Given the description of an element on the screen output the (x, y) to click on. 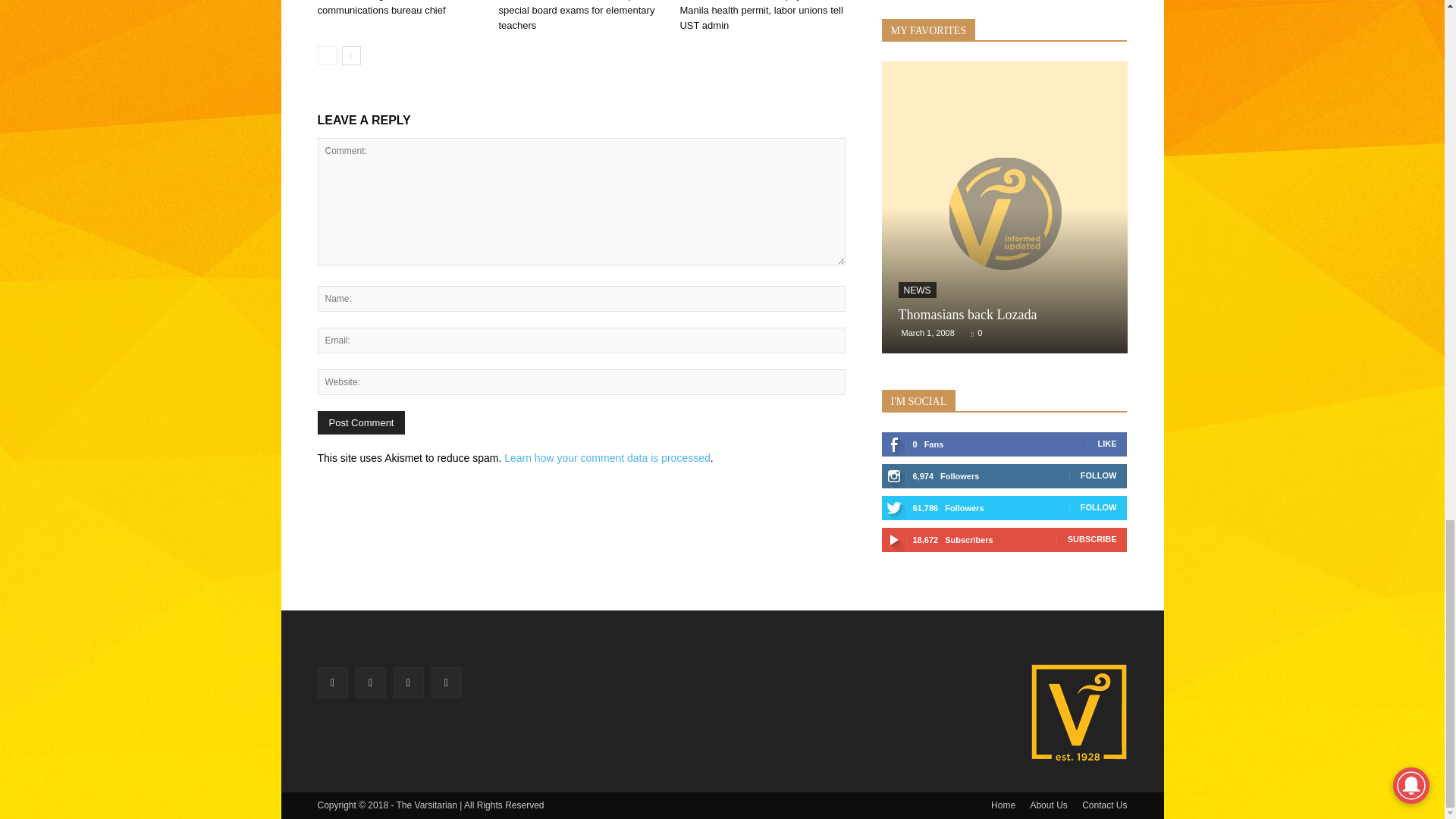
Post Comment (360, 422)
UST GenSan gets own communications bureau chief (381, 7)
